Given the description of an element on the screen output the (x, y) to click on. 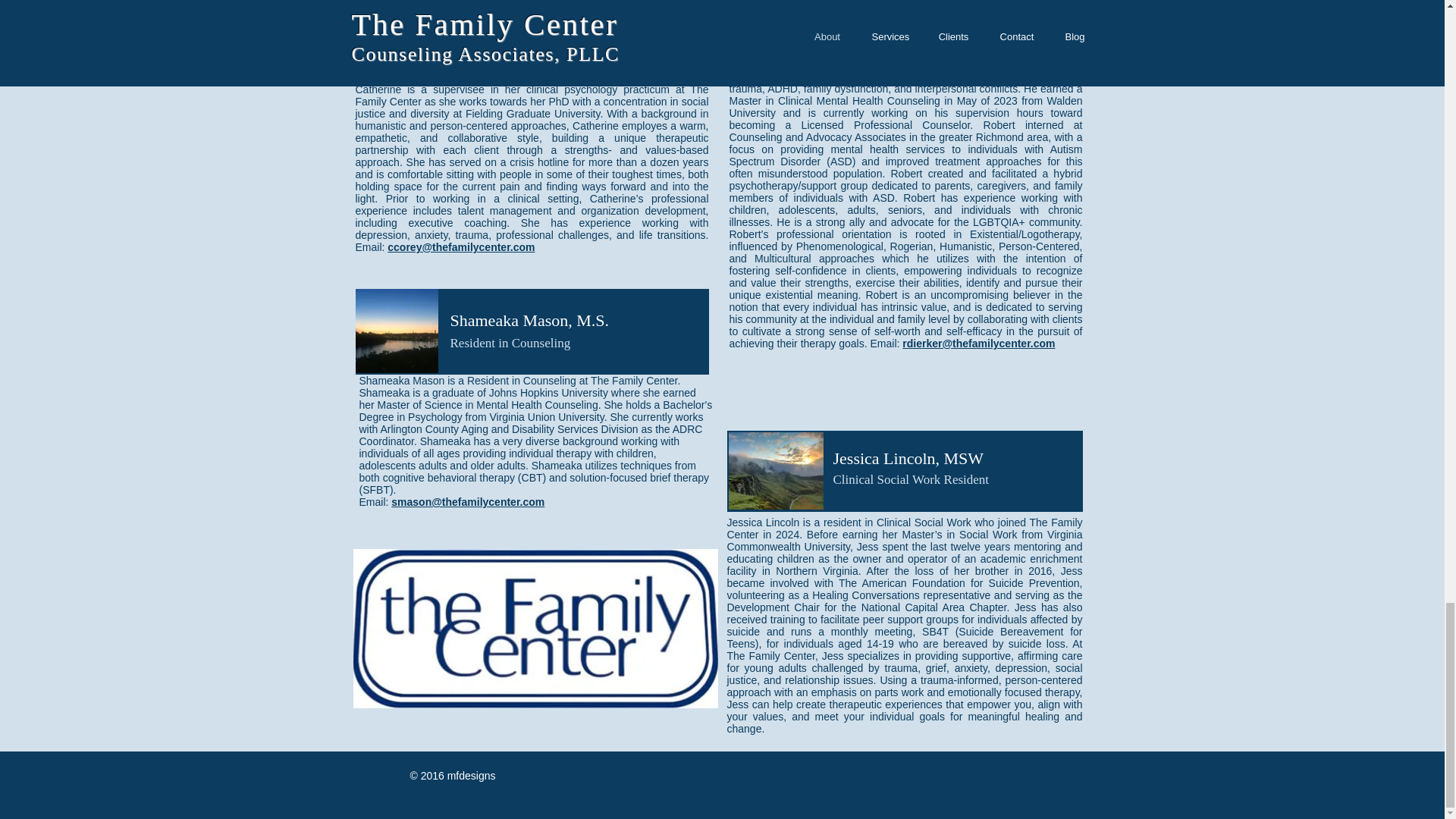
Cherry Blossom (777, 29)
Cherry Blossom (775, 470)
Cherry Blossom (404, 41)
Cherry Blossom (396, 331)
